Given the description of an element on the screen output the (x, y) to click on. 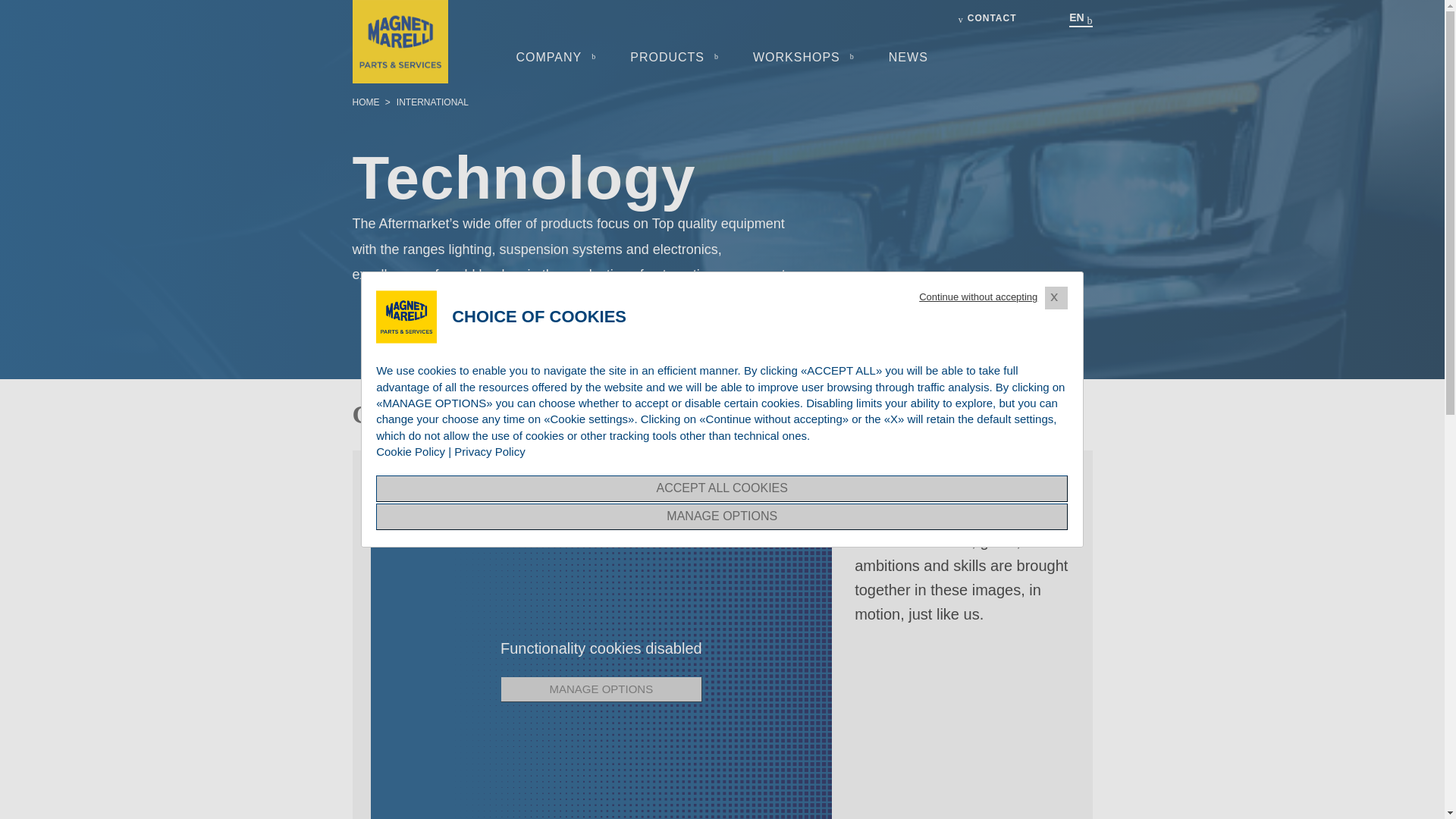
News (908, 56)
Workshops (796, 56)
INTERNATIONAL (432, 102)
PRODUCTS (667, 56)
COMPANY (547, 56)
WORKSHOPS (796, 56)
CONTACT (977, 18)
Company (547, 56)
Products (667, 56)
International (432, 102)
NEWS (908, 56)
MANAGE OPTIONS (600, 688)
HOME (366, 102)
